Given the description of an element on the screen output the (x, y) to click on. 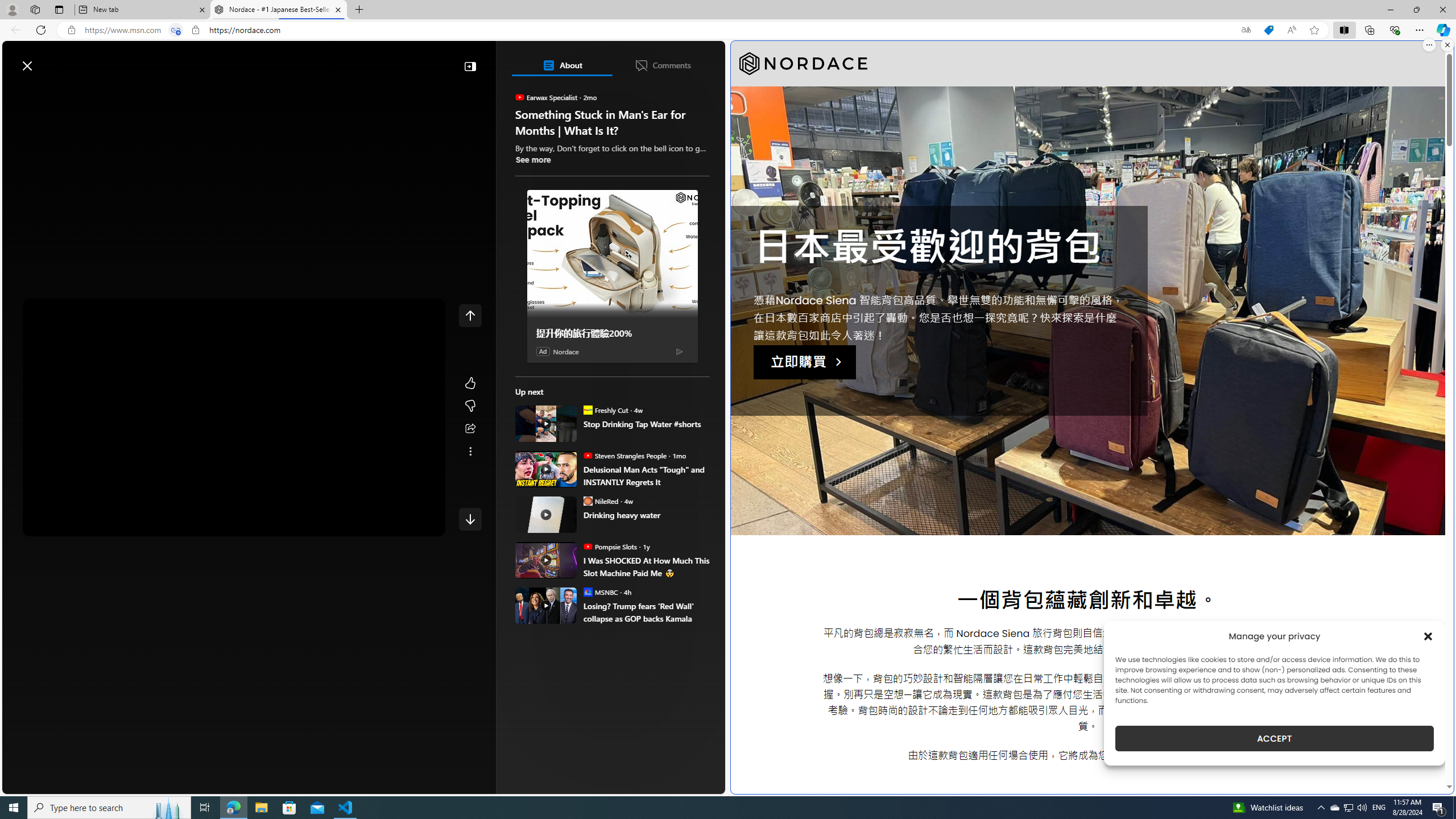
Skip to content (49, 59)
ACCEPT (1274, 738)
Drinking heavy water (646, 514)
AutomationID: e5rZOEMGacU1 (469, 518)
More like thisFewer like this (469, 394)
More options. (1428, 45)
Nordace.com (577, 601)
About (561, 64)
